Given the description of an element on the screen output the (x, y) to click on. 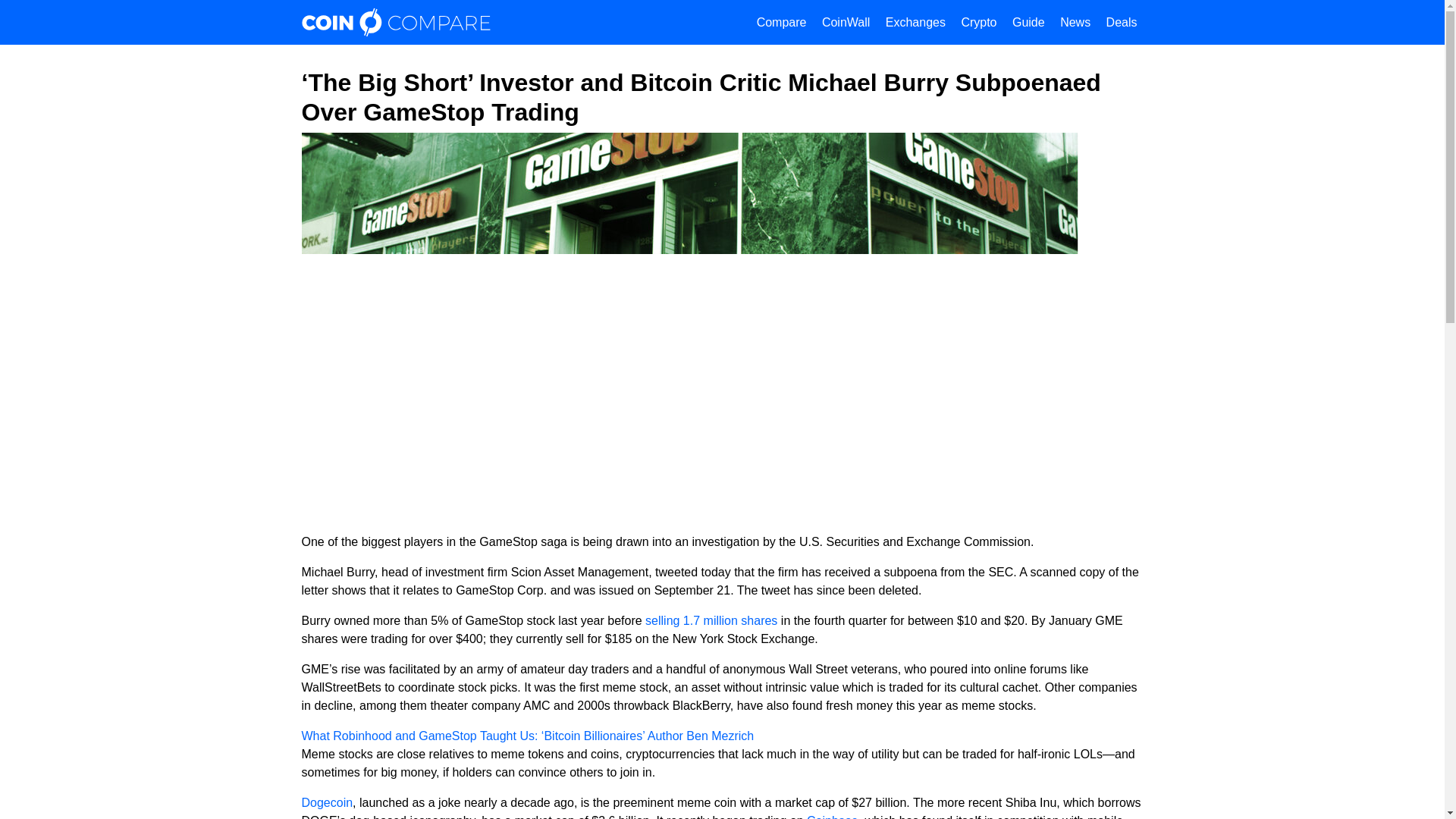
Coinbase (832, 816)
CoinWall (845, 22)
News (1075, 22)
Crypto (979, 22)
selling 1.7 million shares (711, 620)
Guide (1028, 22)
Compare (781, 22)
Dogecoin (327, 802)
Exchanges (915, 22)
